Given the description of an element on the screen output the (x, y) to click on. 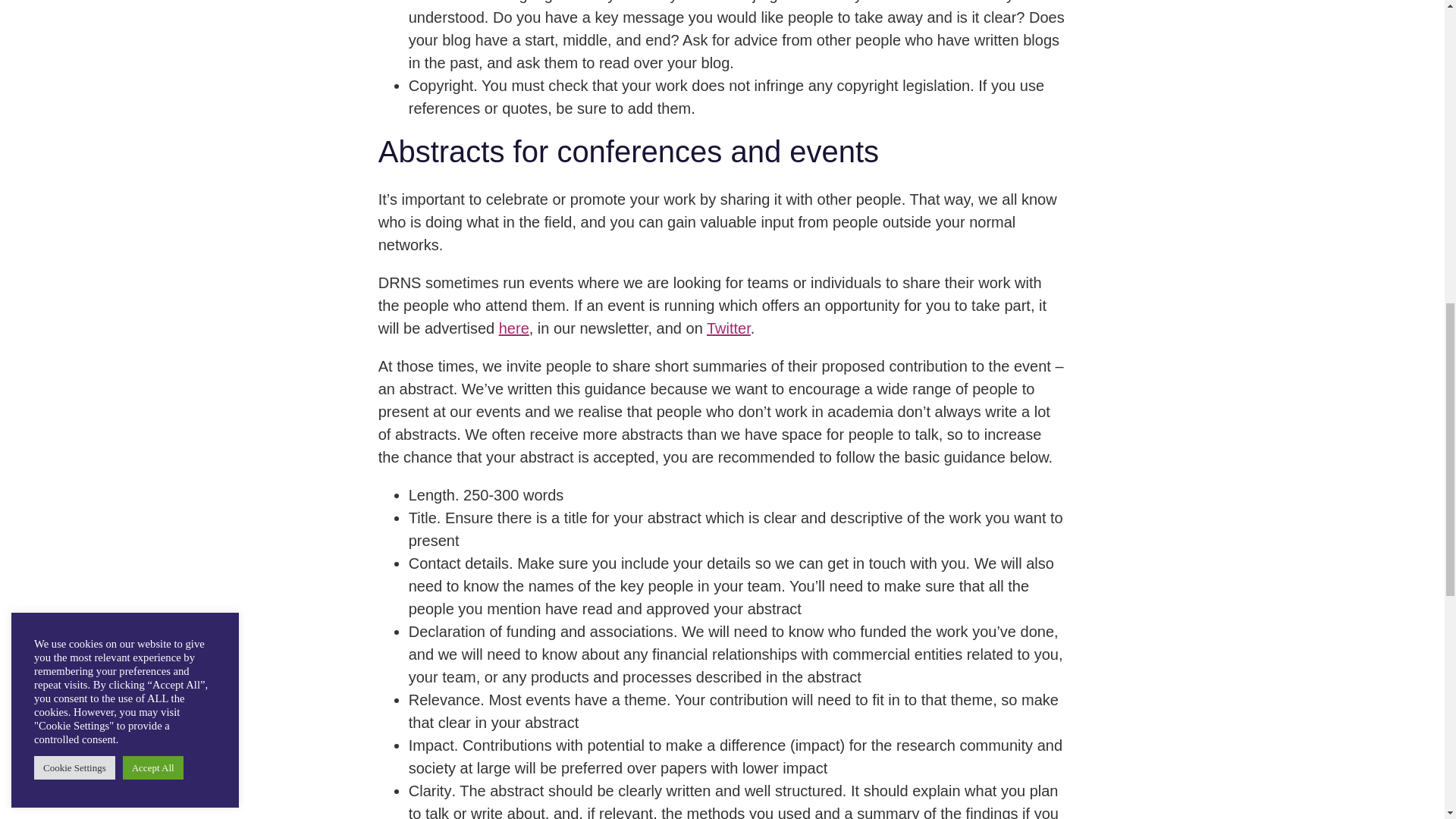
Twitter (728, 328)
here (514, 328)
